Given the description of an element on the screen output the (x, y) to click on. 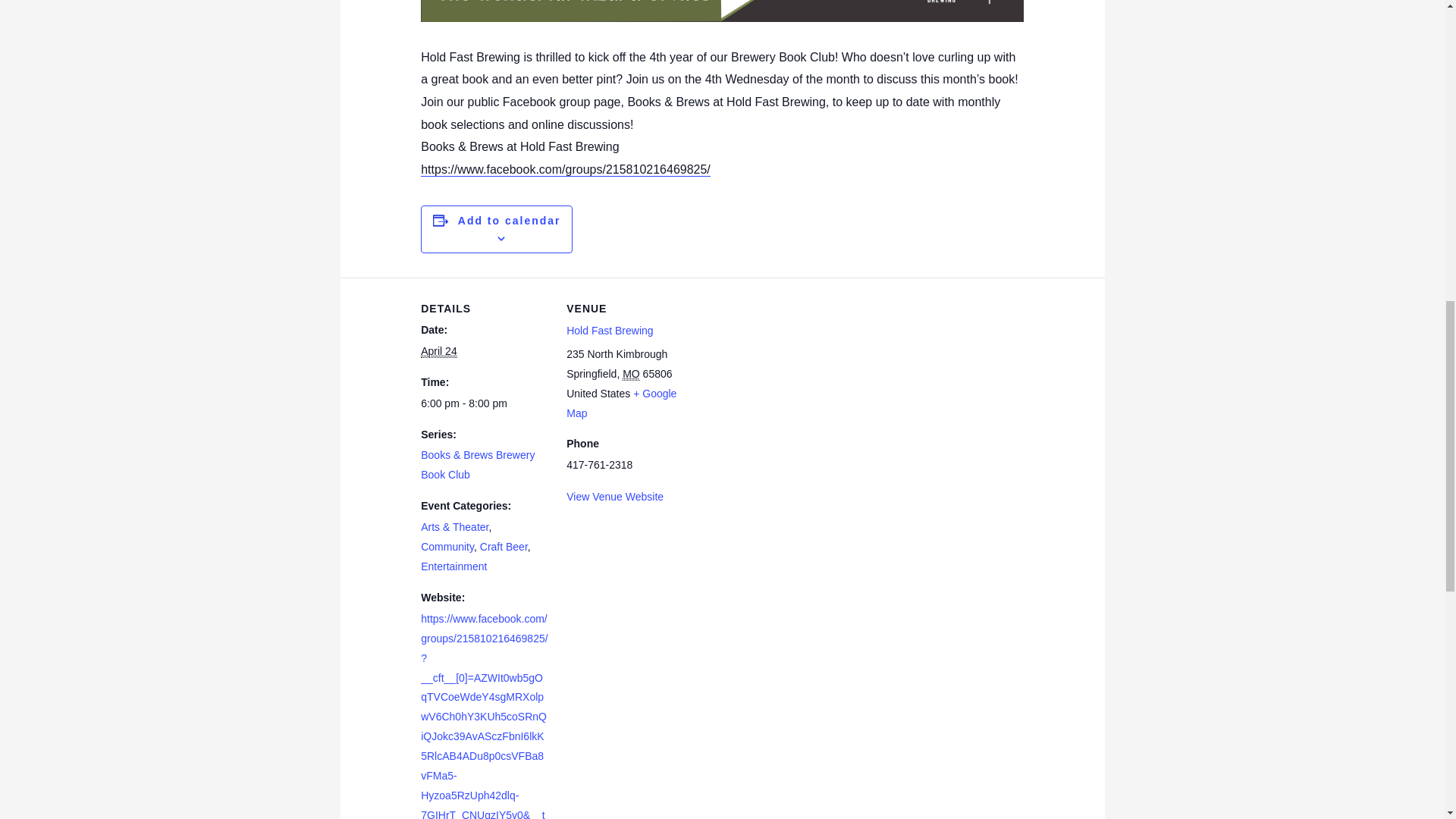
2024-04-24 (484, 403)
2024-04-24 (438, 350)
Click to view a Google Map (621, 403)
Missouri (631, 373)
